Given the description of an element on the screen output the (x, y) to click on. 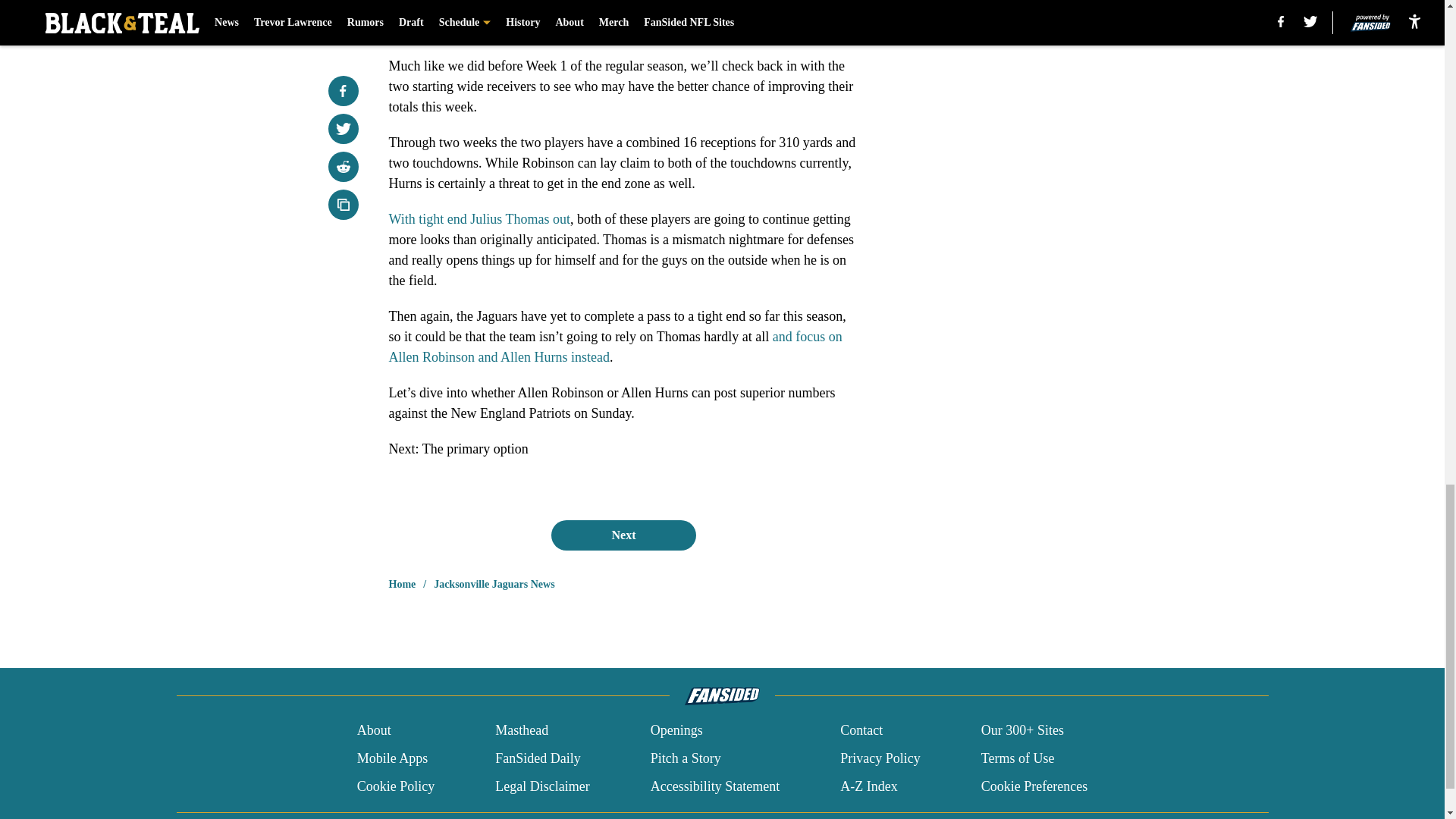
Openings (676, 730)
FanSided Daily (537, 758)
About (373, 730)
With tight end Julius Thomas out (478, 218)
Contact (861, 730)
Home (401, 584)
Privacy Policy (880, 758)
Masthead (521, 730)
Next (622, 535)
and focus on Allen Robinson and Allen Hurns instead (614, 346)
Pitch a Story (685, 758)
Mobile Apps (392, 758)
Jacksonville Jaguars News (493, 584)
